Given the description of an element on the screen output the (x, y) to click on. 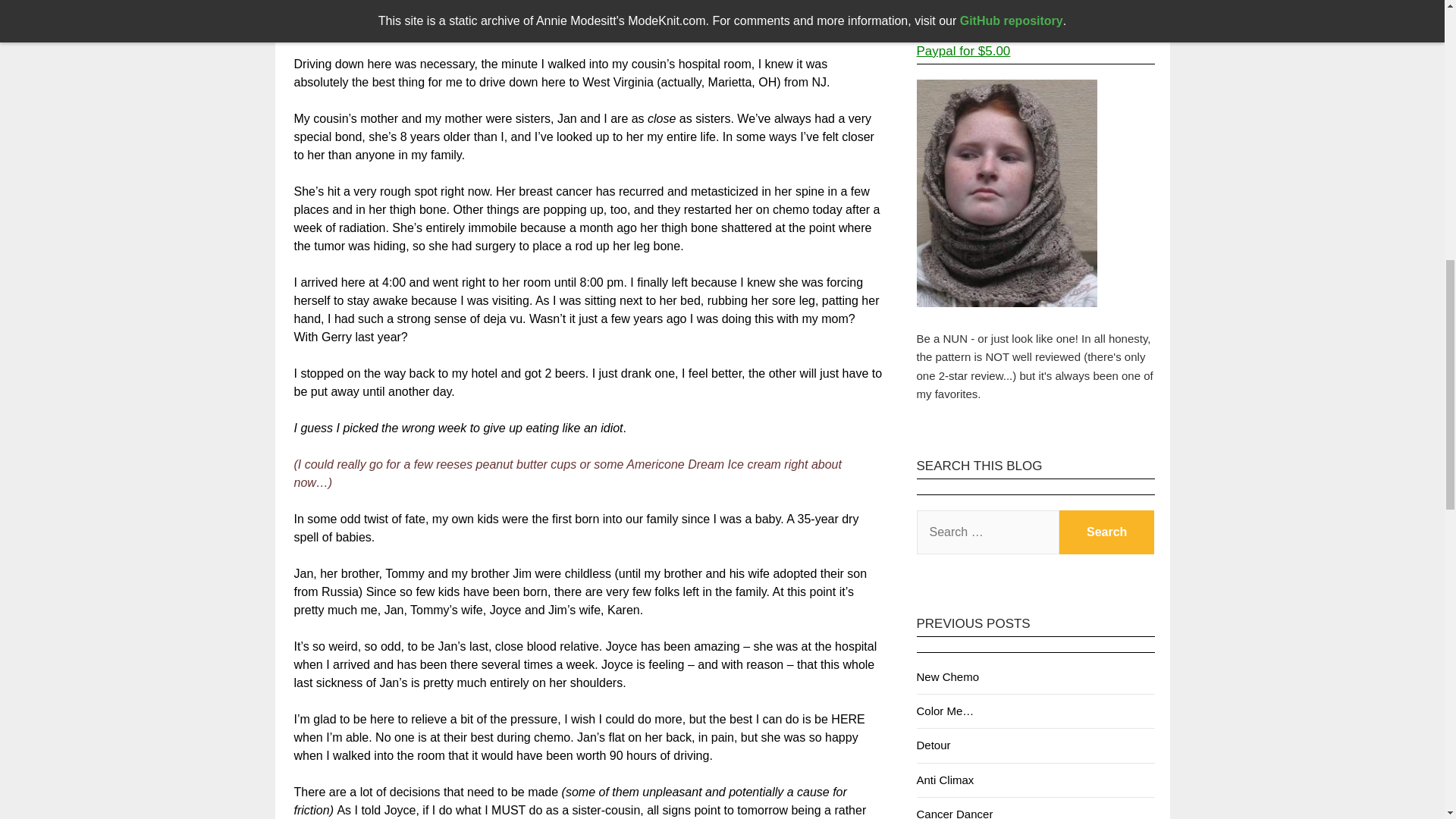
Detour (932, 744)
Annie (675, 29)
August 12, 2008 (591, 29)
Cancer Dancer (953, 813)
Search (1106, 532)
New Chemo (946, 676)
Search (1106, 532)
Anti Climax (944, 779)
Search (1106, 532)
